Given the description of an element on the screen output the (x, y) to click on. 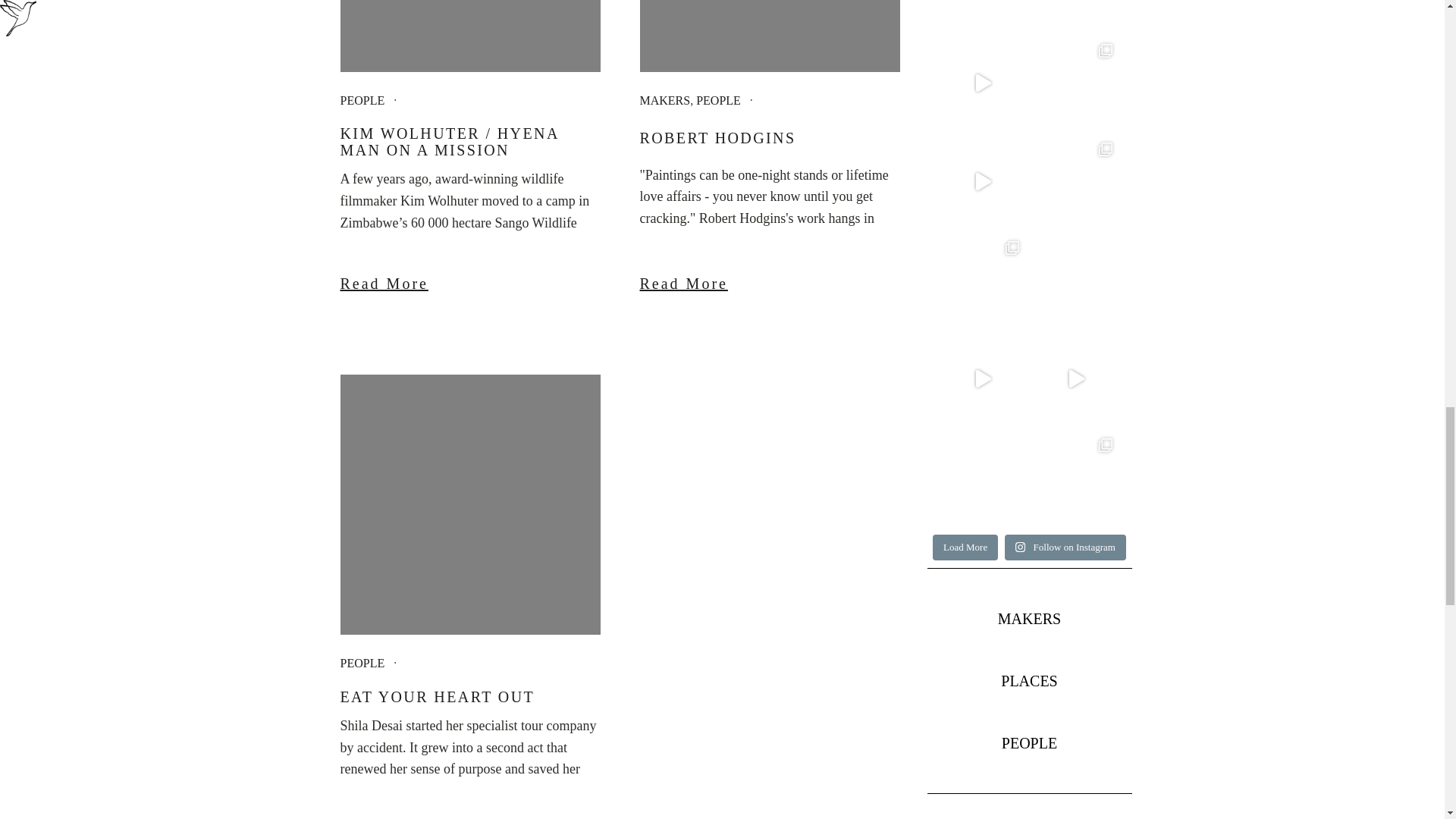
PEOPLE (361, 100)
ROBERT HODGINS (769, 137)
PEOPLE (718, 100)
EAT YOUR HEART OUT (469, 696)
Read More (769, 283)
MAKERS (665, 100)
PEOPLE (361, 662)
Read More (469, 816)
Read More (469, 283)
